Given the description of an element on the screen output the (x, y) to click on. 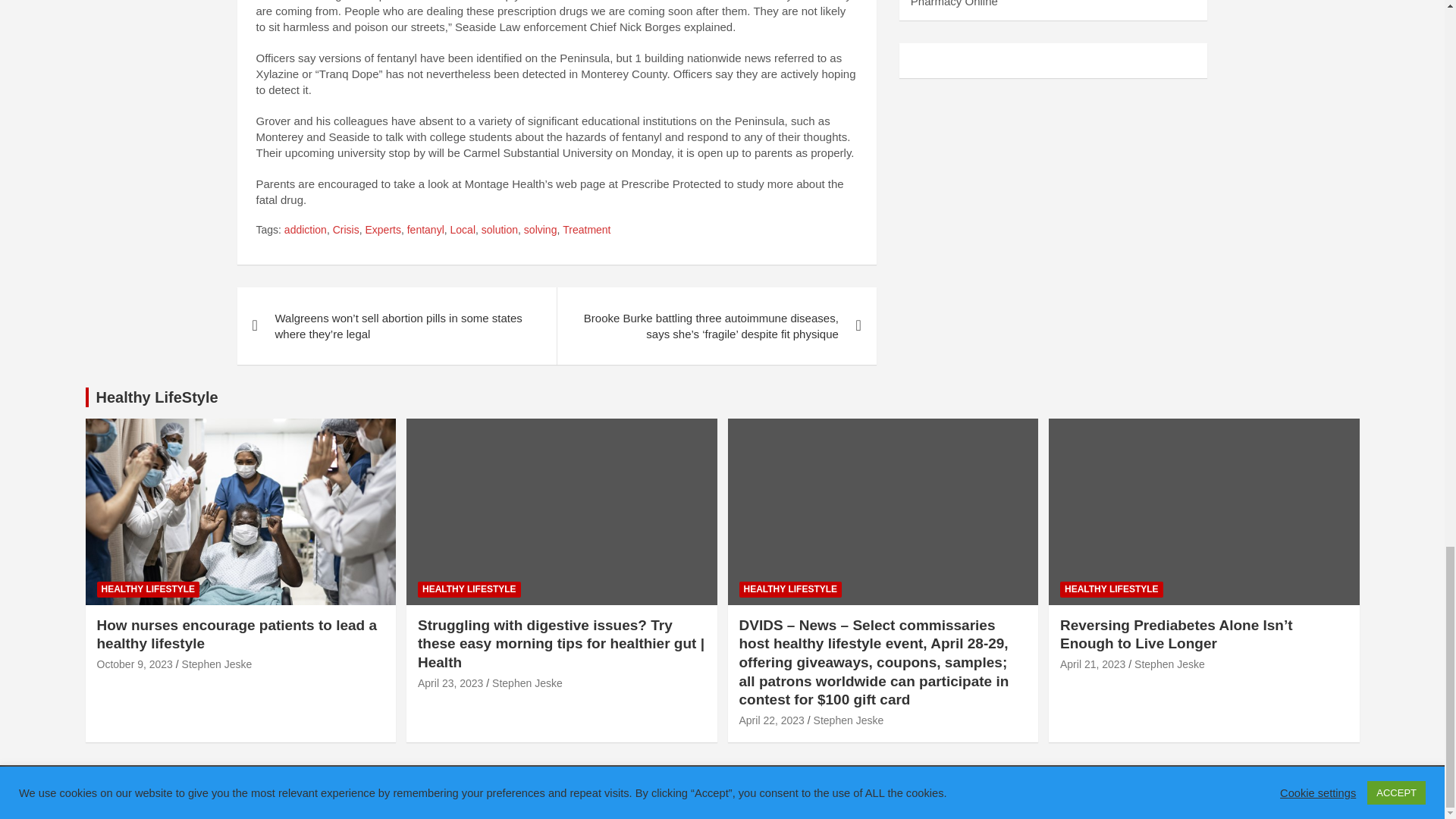
Experts (382, 230)
Crisis (346, 230)
Treatment (586, 230)
fentanyl (425, 230)
Theme Horse (505, 791)
addiction (304, 230)
Local (462, 230)
solving (540, 230)
WordPress (691, 791)
How nurses encourage patients to lead a healthy lifestyle (135, 664)
